Given the description of an element on the screen output the (x, y) to click on. 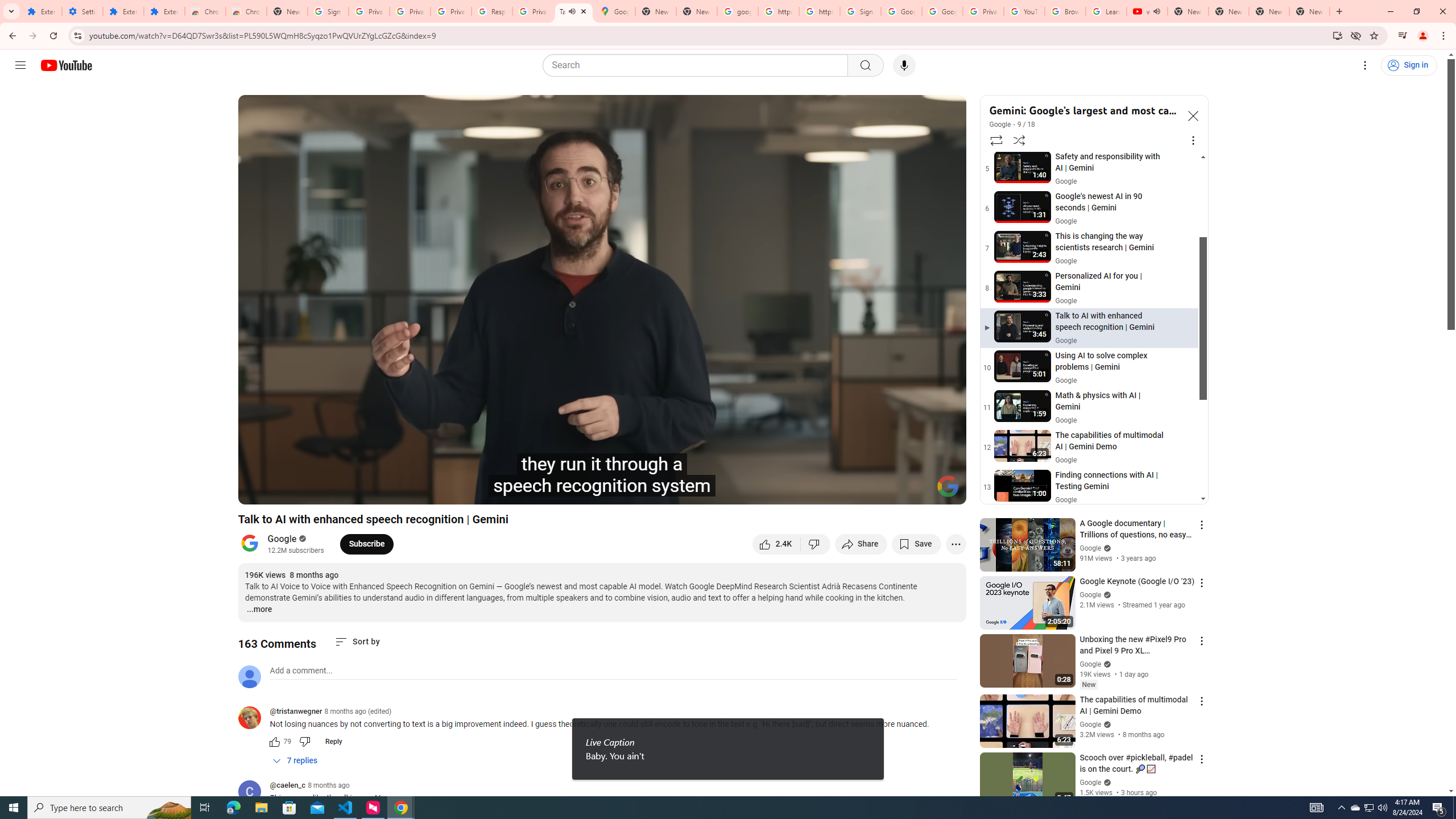
Reply (333, 741)
Sort comments (357, 641)
Verified (1106, 782)
@caelen_c (287, 785)
Extensions (122, 11)
Chrome Web Store (205, 11)
https://scholar.google.com/ (777, 11)
Mute tab (1156, 10)
Search with your voice (903, 65)
YouTube (1023, 11)
